Given the description of an element on the screen output the (x, y) to click on. 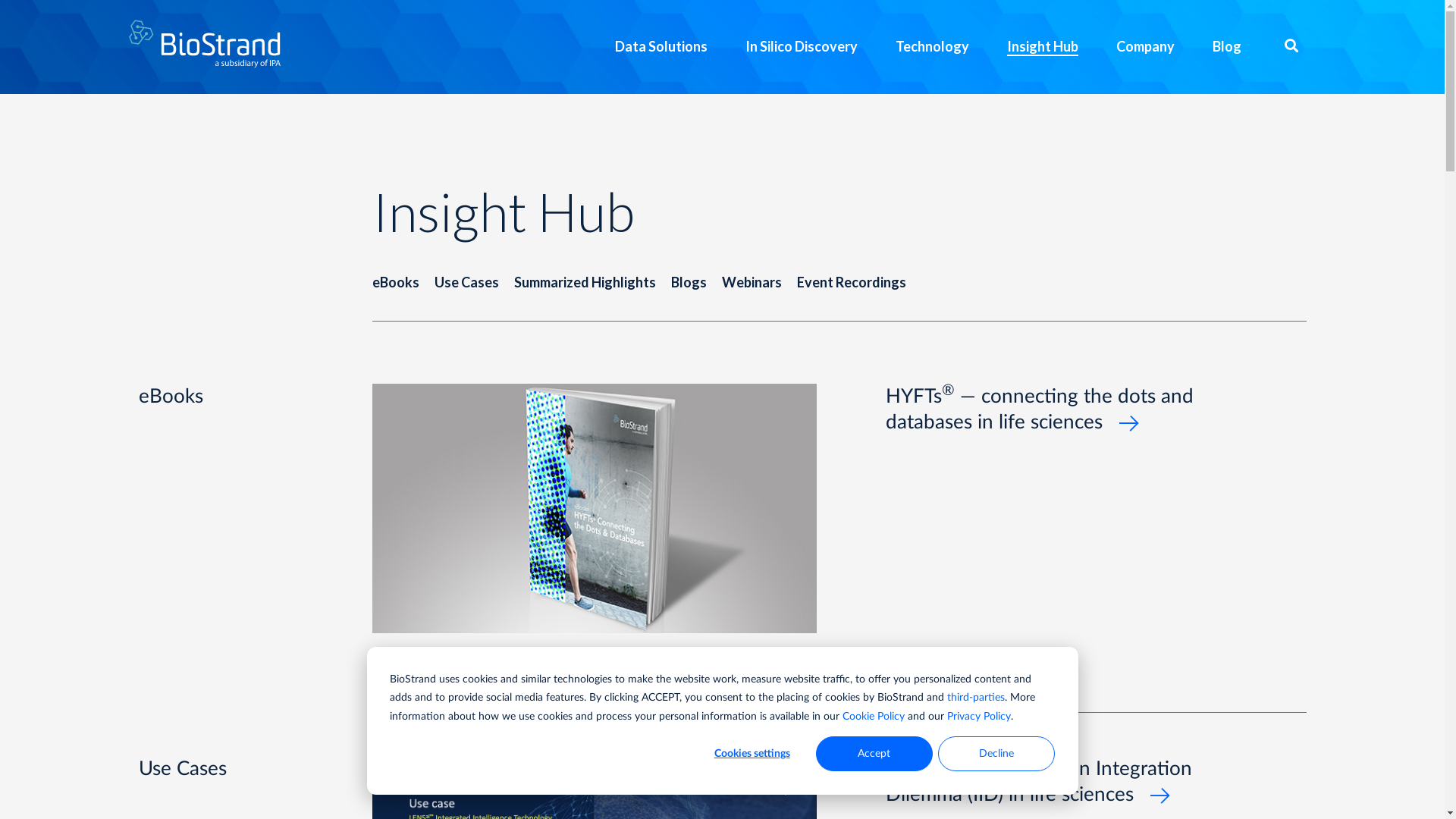
Webinars Element type: text (751, 281)
Summarized Highlights Element type: text (584, 281)
Event Recordings Element type: text (850, 281)
Company Element type: text (1145, 46)
In Silico Discovery Element type: text (801, 46)
Use Cases Element type: text (465, 281)
Technology Element type: text (932, 46)
Skip to the main content. Element type: text (0, 0)
third-parties Element type: text (975, 697)
Insight Hub Element type: text (1042, 46)
Decline Element type: text (996, 753)
Privacy Policy Element type: text (978, 716)
Blogs Element type: text (688, 281)
See all Element type: text (1095, 674)
BioStrand Logo a subsidiary of IPA Element type: hover (203, 43)
Accept Element type: text (873, 753)
Cookie Policy Element type: text (873, 716)
Blog Element type: text (1226, 46)
Cookies settings Element type: text (751, 753)
eBooks Element type: text (394, 281)
Data Solutions Element type: text (661, 46)
